Given the description of an element on the screen output the (x, y) to click on. 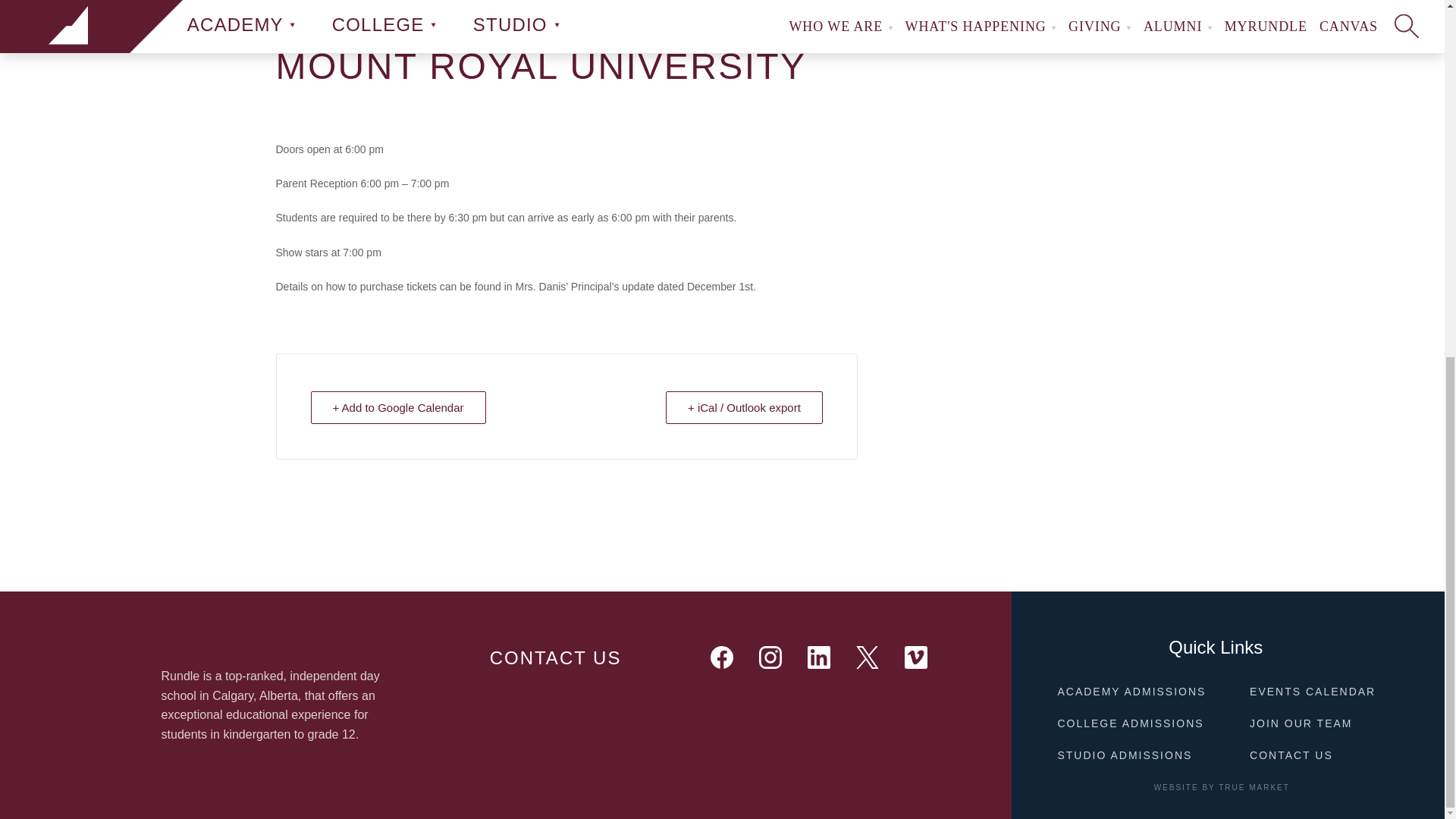
Instagram (770, 658)
LinkedIn (819, 658)
Twitter (868, 658)
Facebook (722, 658)
Vimeo (916, 658)
